Given the description of an element on the screen output the (x, y) to click on. 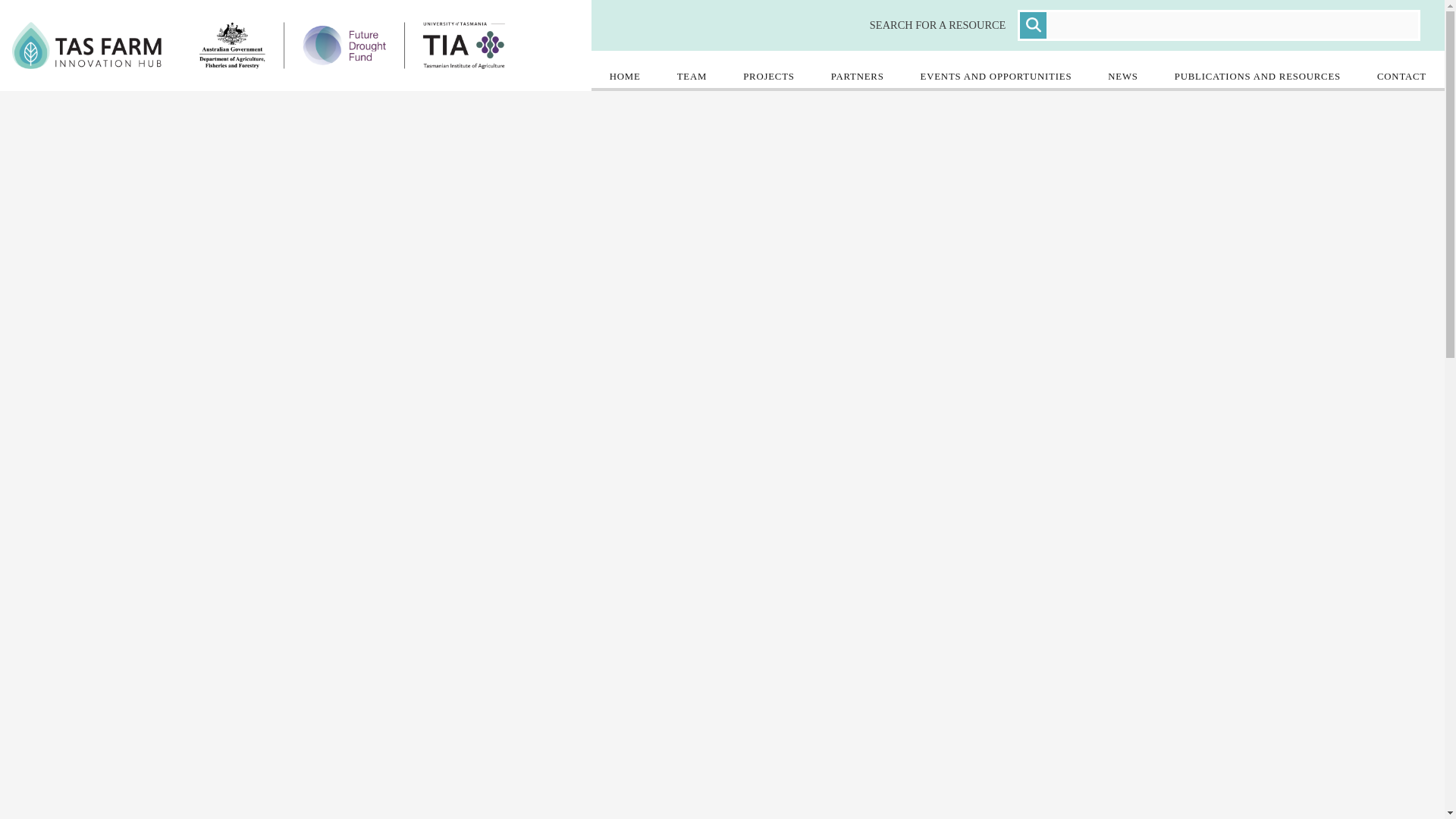
EVENTS AND OPPORTUNITIES (996, 70)
PROJECTS (768, 70)
HOME (625, 70)
PUBLICATIONS AND RESOURCES (1257, 70)
PARTNERS (857, 70)
NEWS (1122, 70)
TEAM (692, 70)
